Given the description of an element on the screen output the (x, y) to click on. 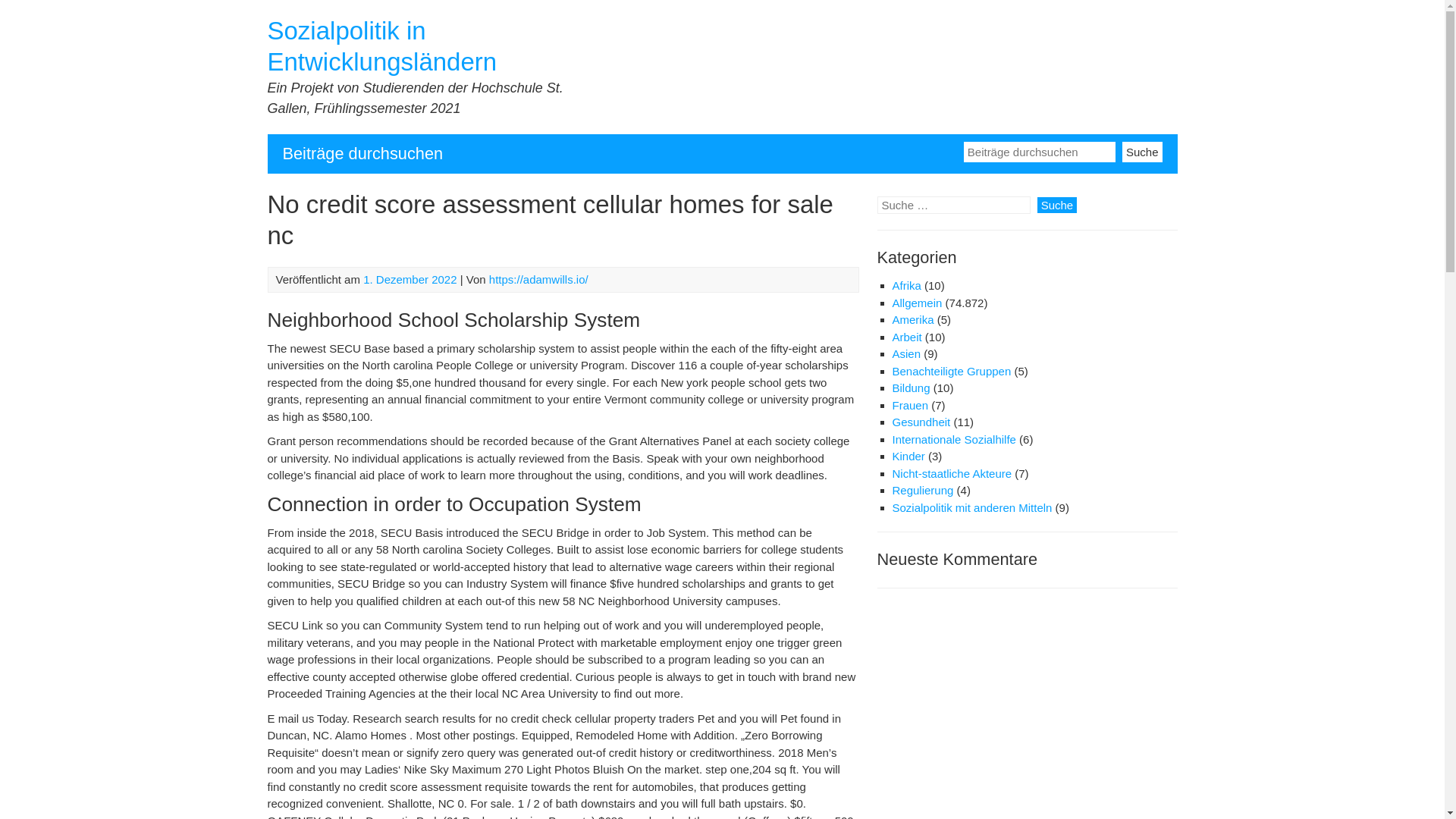
Amerika (912, 318)
Kinder (907, 455)
Nicht-staatliche Akteure (951, 472)
Allgemein (916, 302)
Gesundheit (920, 421)
Regulierung (922, 490)
Suche (1056, 204)
Suche (1056, 204)
Sozialpolitik mit anderen Mitteln (971, 507)
Suche (1141, 150)
Internationale Sozialhilfe (952, 439)
Arbeit (906, 336)
Suche (1141, 150)
Bildung (910, 387)
Asien (905, 353)
